Given the description of an element on the screen output the (x, y) to click on. 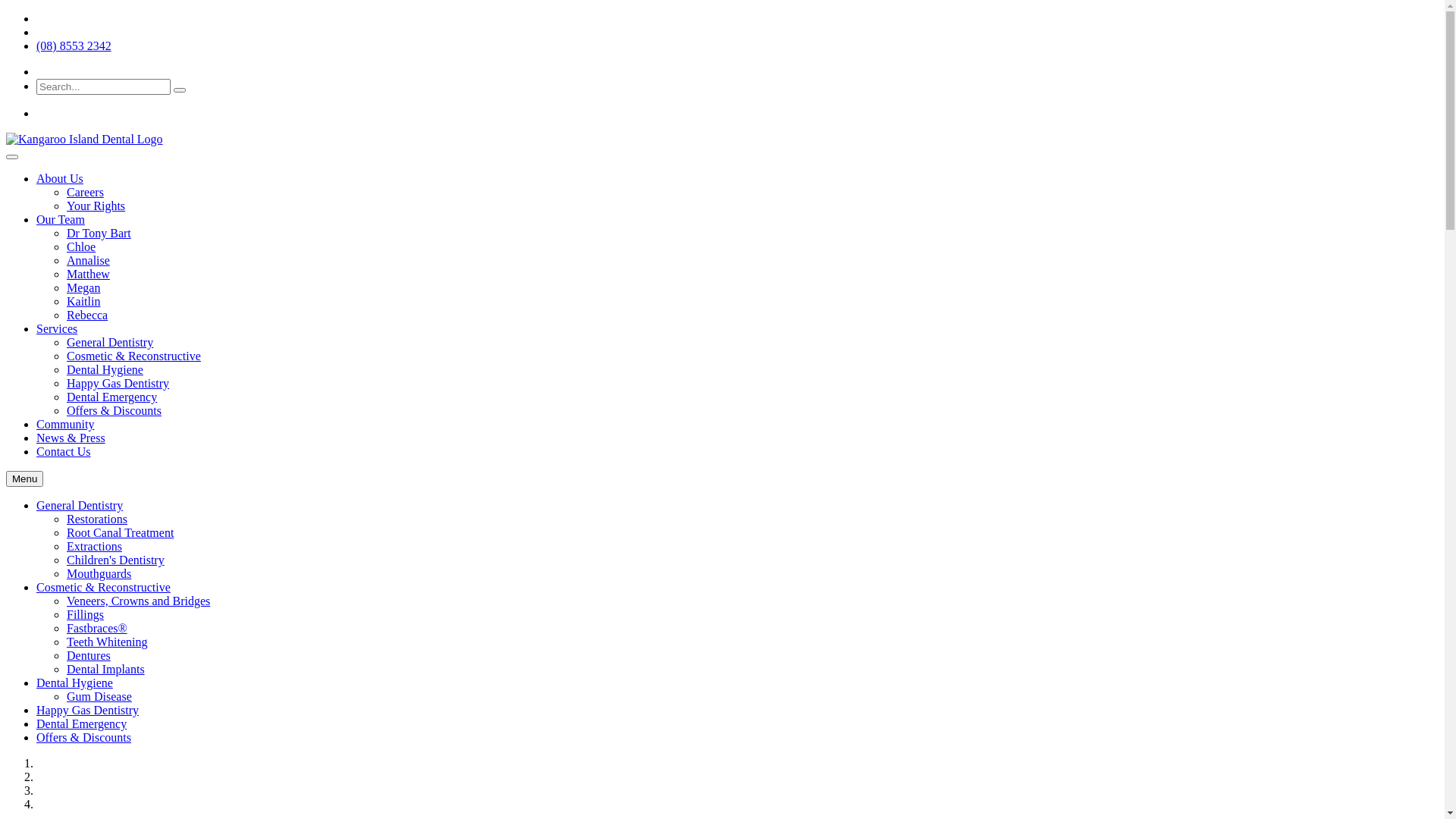
Megan Element type: text (83, 287)
Offers & Discounts Element type: text (83, 737)
Mouthguards Element type: text (98, 573)
Annalise Element type: text (87, 260)
Matthew Element type: text (87, 273)
Chloe Element type: text (80, 246)
Extractions Element type: text (94, 545)
Menu Element type: text (24, 478)
Happy Gas Dentistry Element type: text (87, 709)
To our Home page Element type: hover (84, 138)
Root Canal Treatment Element type: text (119, 532)
Cosmetic & Reconstructive Element type: text (133, 355)
Dental Implants Element type: text (105, 668)
Your Rights Element type: text (95, 205)
Dentures Element type: text (88, 655)
Community Element type: text (65, 423)
Children's Dentistry Element type: text (115, 559)
Dr Tony Bart Element type: text (98, 232)
Teeth Whitening Element type: text (106, 641)
Offers & Discounts Element type: text (113, 410)
Dental Emergency Element type: text (81, 723)
About Us Element type: text (59, 178)
Dental Hygiene Element type: text (104, 369)
Careers Element type: text (84, 191)
Rebecca Element type: text (86, 314)
Gum Disease Element type: text (98, 696)
Happy Gas Dentistry Element type: text (117, 382)
(08) 8553 2342 Element type: text (73, 45)
Restorations Element type: text (96, 518)
Kaitlin Element type: text (83, 300)
Cosmetic & Reconstructive Element type: text (103, 586)
Fillings Element type: text (84, 614)
Contact Us Element type: text (63, 451)
General Dentistry Element type: text (109, 341)
Dental Hygiene Element type: text (74, 682)
Services Element type: text (56, 328)
Veneers, Crowns and Bridges Element type: text (138, 600)
General Dentistry Element type: text (79, 504)
Our Team Element type: text (60, 219)
Dental Emergency Element type: text (111, 396)
News & Press Element type: text (70, 437)
